Given the description of an element on the screen output the (x, y) to click on. 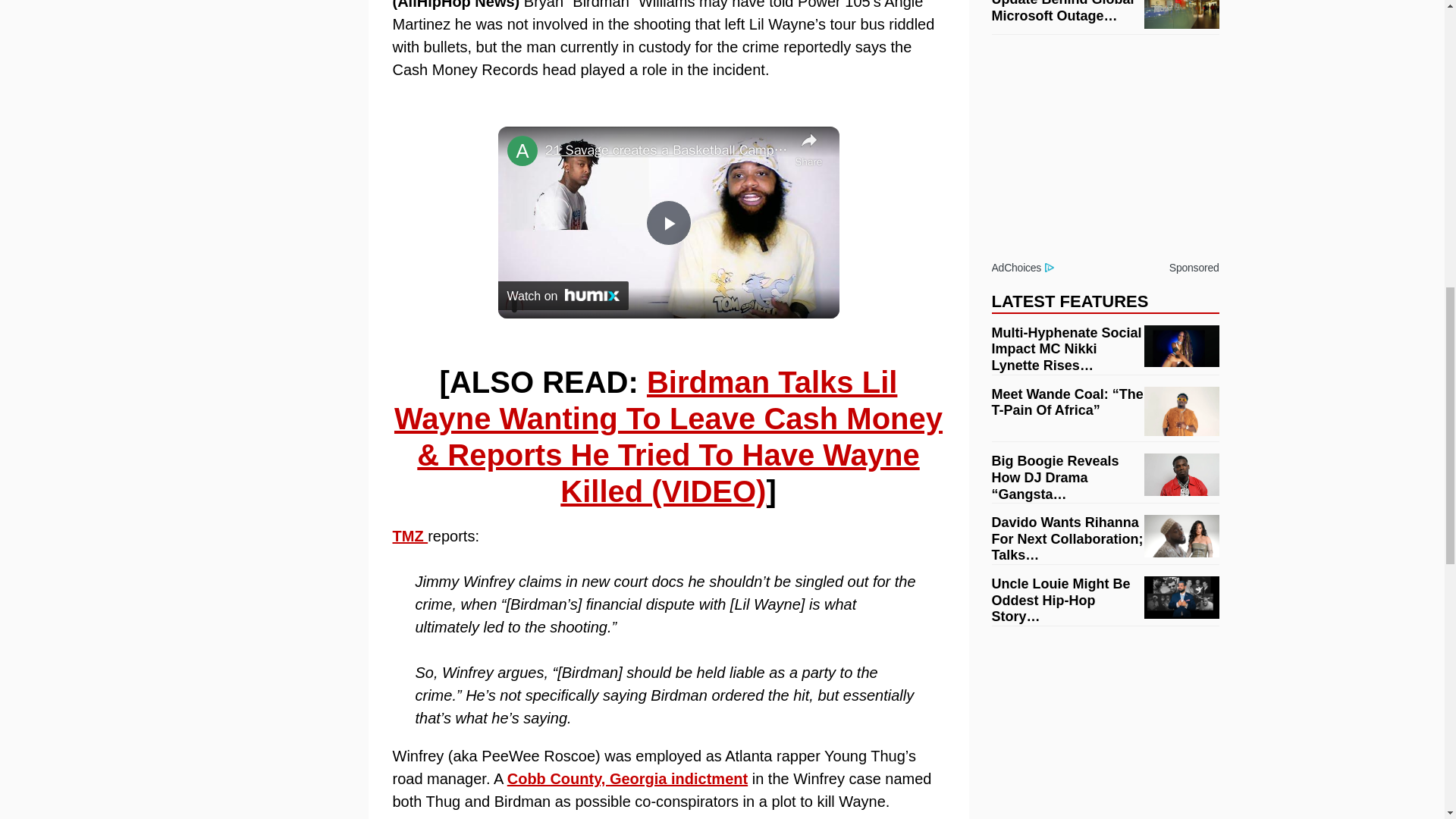
Play Video (668, 222)
